Given the description of an element on the screen output the (x, y) to click on. 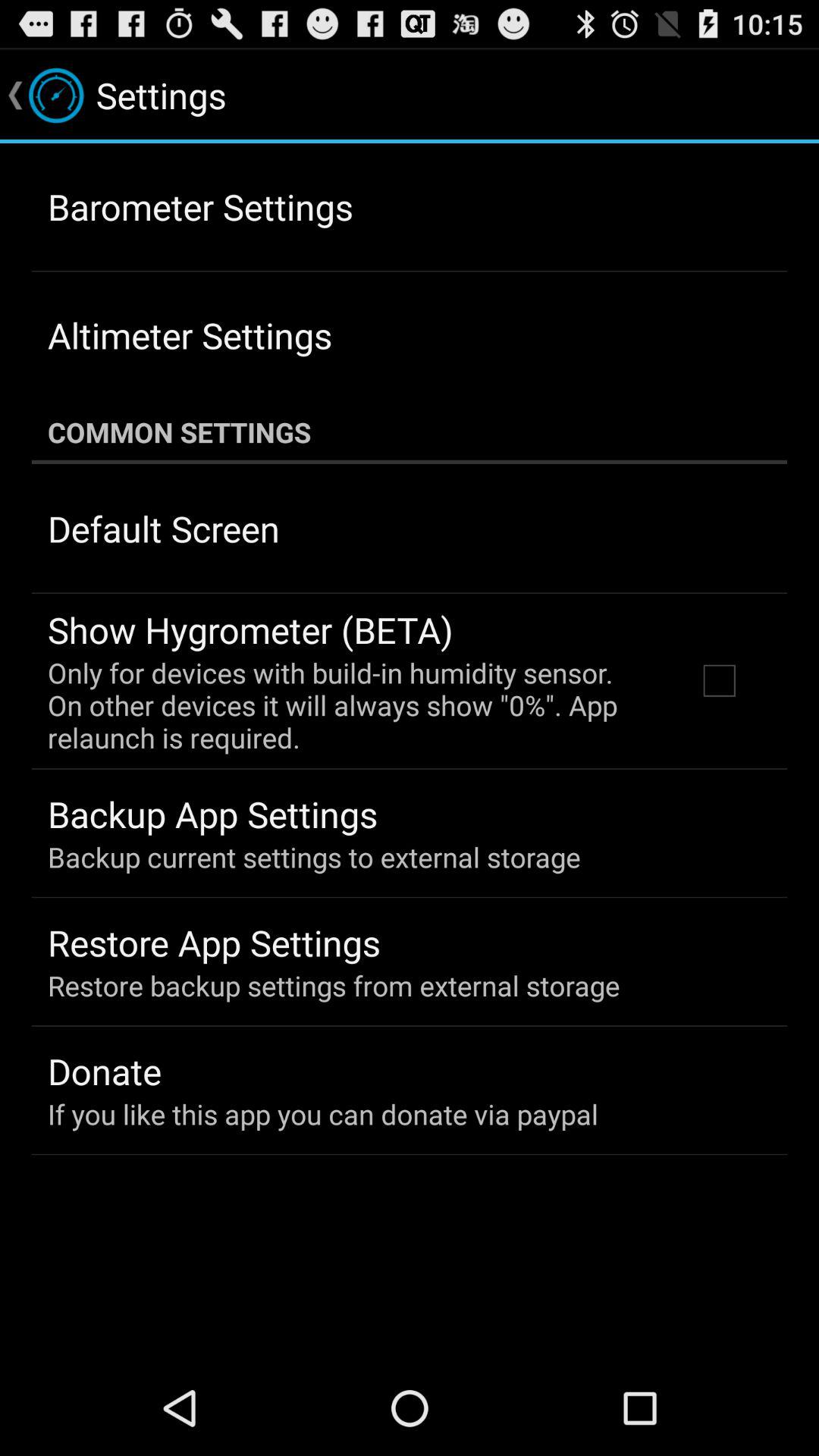
open item below default screen icon (250, 629)
